Given the description of an element on the screen output the (x, y) to click on. 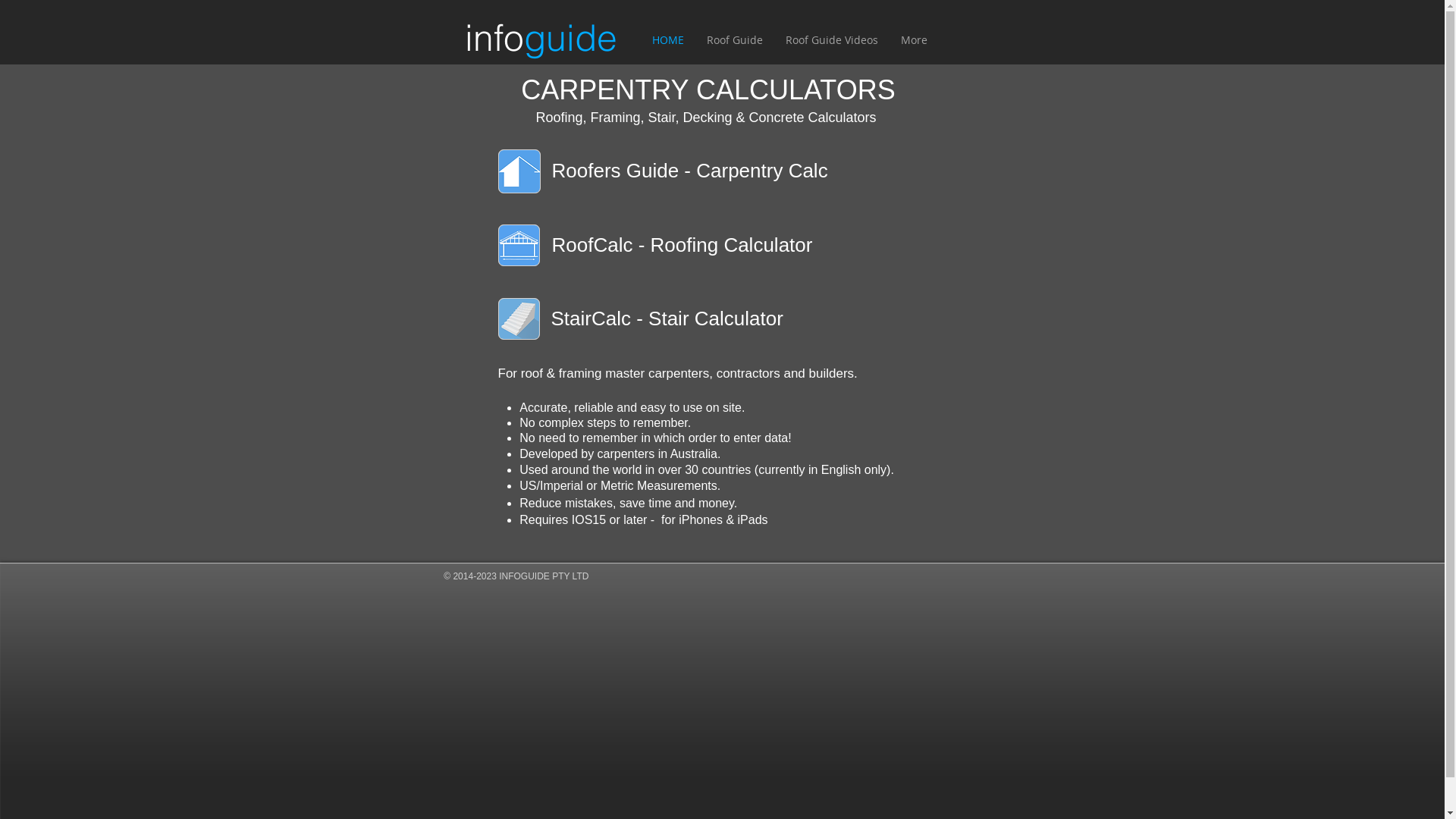
Guide - Carpentry Calc Element type: text (724, 170)
- Stair Calculator Element type: text (706, 318)
RoofCalc Element type: text (592, 244)
Roofers Element type: text (586, 170)
- Roofing Calculator Element type: text (722, 244)
infoguide Element type: text (540, 34)
Roof Guide Element type: text (733, 39)
Roof Guide Videos Element type: text (830, 39)
StairCalc Element type: text (590, 318)
HOME Element type: text (667, 39)
